Given the description of an element on the screen output the (x, y) to click on. 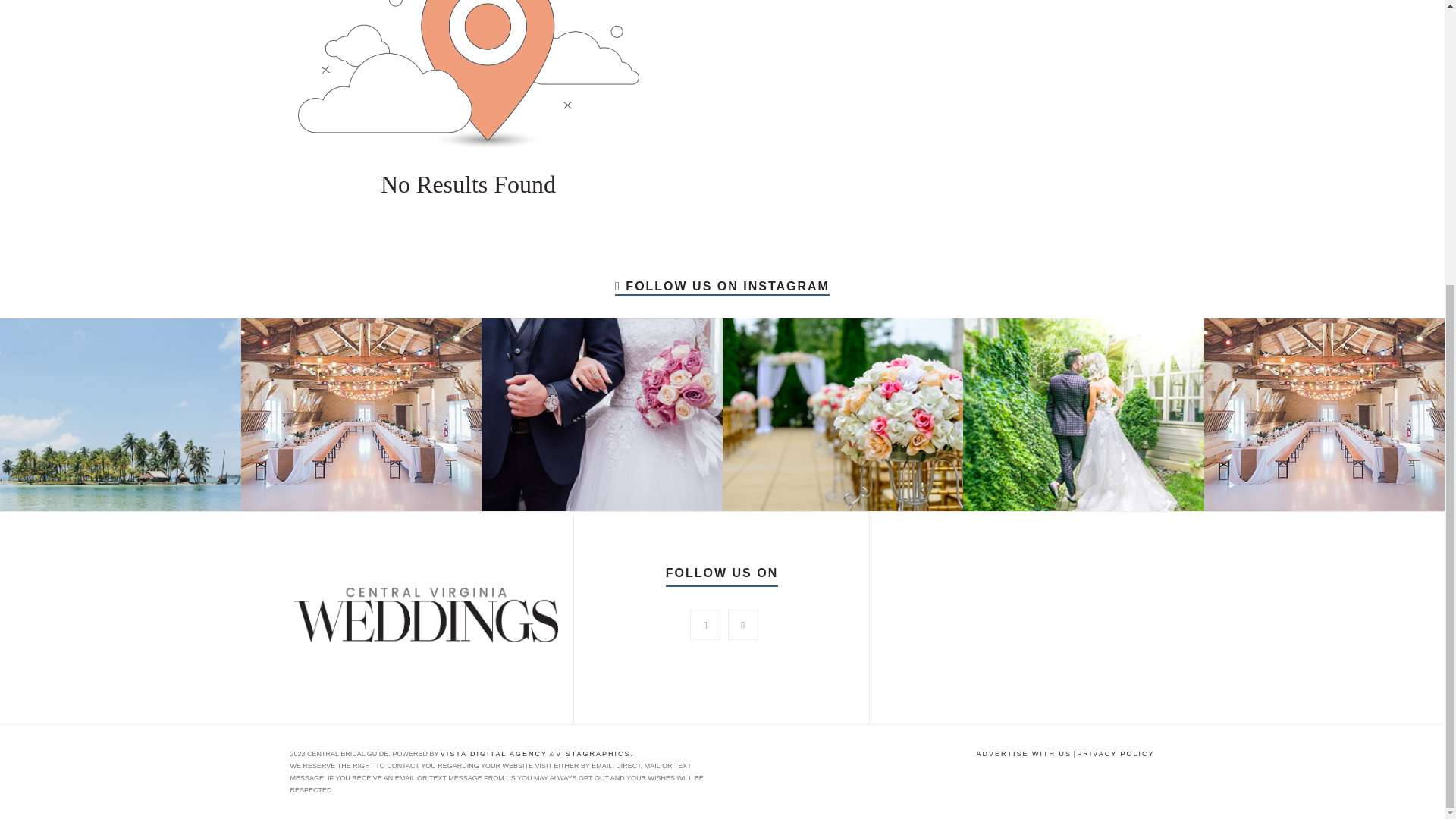
ADVERTISE WITH US (1023, 753)
VISTAGRAPHICS. (594, 753)
PRIVACY POLICY (1115, 753)
VISTA DIGITAL AGENCY (494, 753)
